Given the description of an element on the screen output the (x, y) to click on. 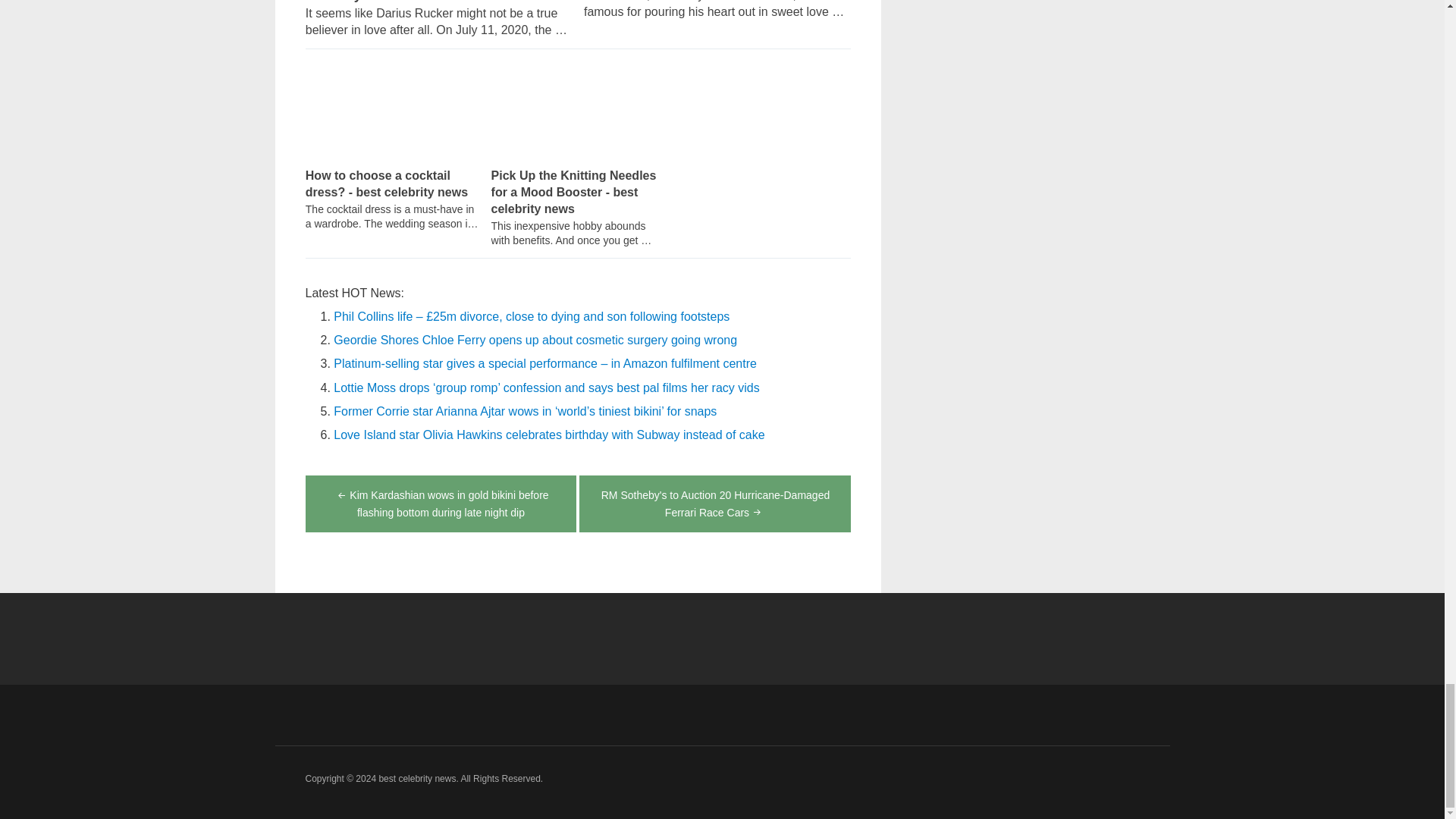
How to choose a cocktail dress? - best celebrity news (392, 113)
